Given the description of an element on the screen output the (x, y) to click on. 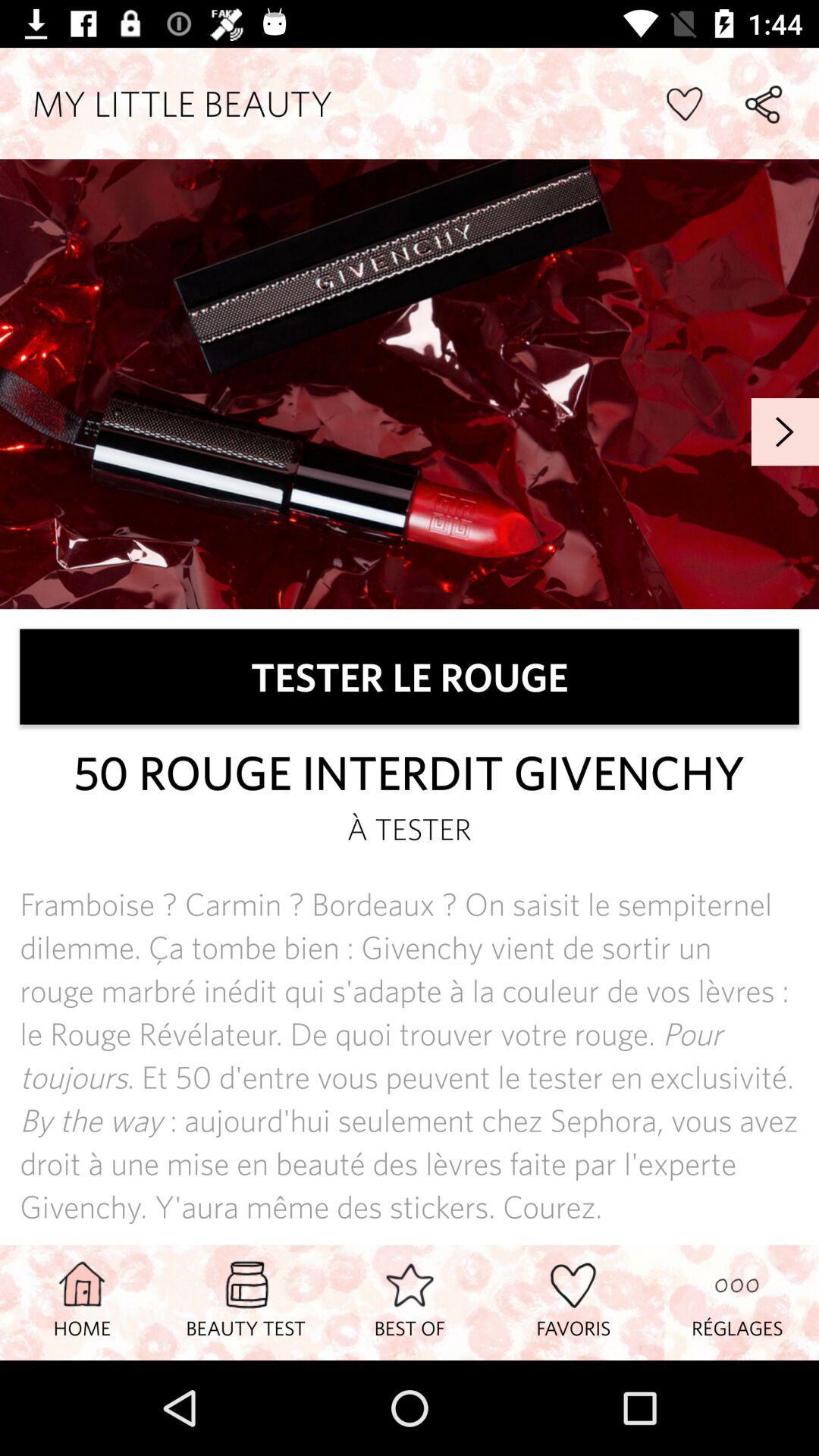
tap beauty test item (245, 1302)
